Given the description of an element on the screen output the (x, y) to click on. 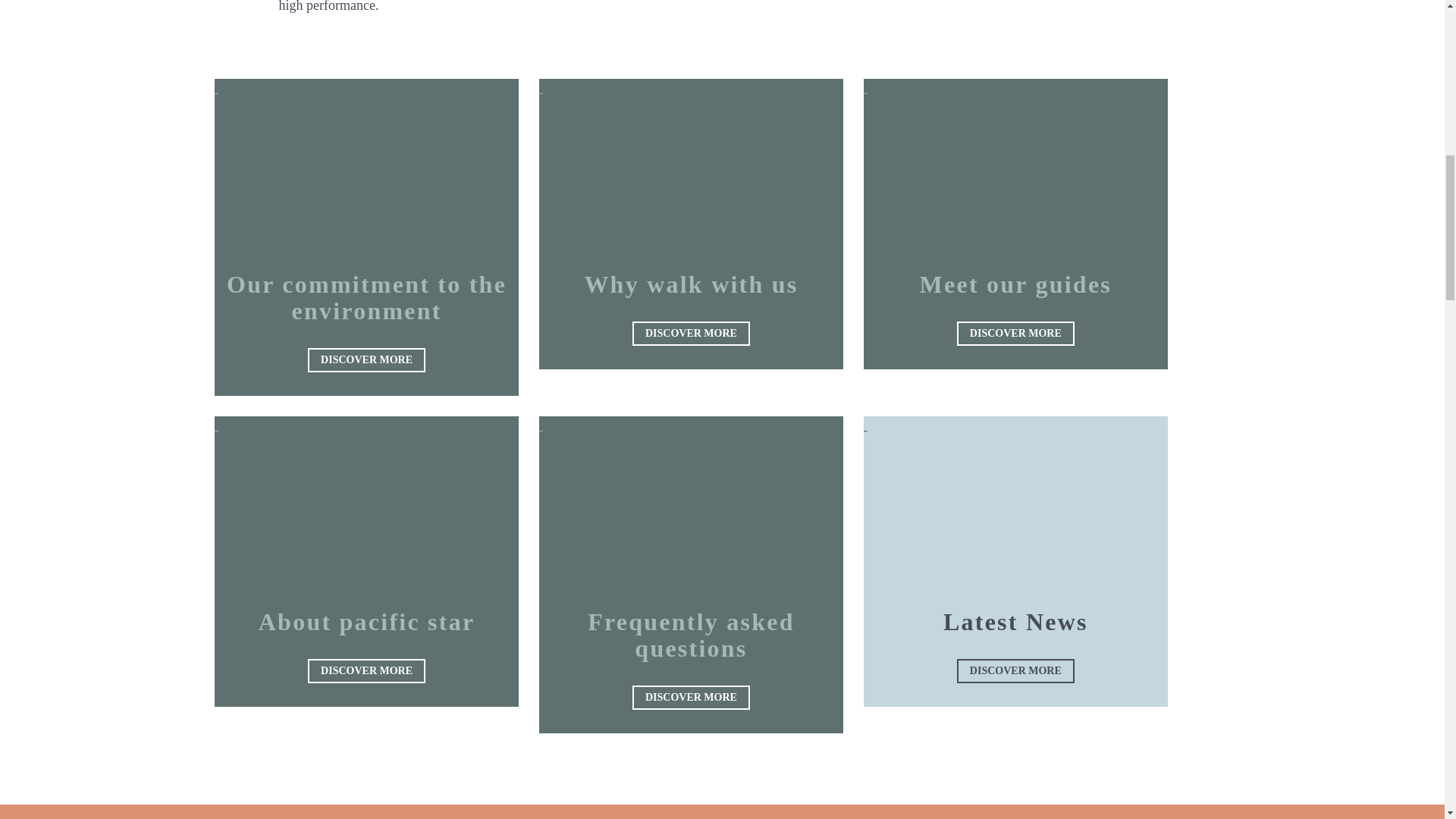
DISCOVER MORE (366, 360)
DISCOVER MORE (690, 333)
Latest News (1015, 621)
DISCOVER MORE (366, 671)
Why walk with us (690, 284)
DISCOVER MORE (690, 697)
